Given the description of an element on the screen output the (x, y) to click on. 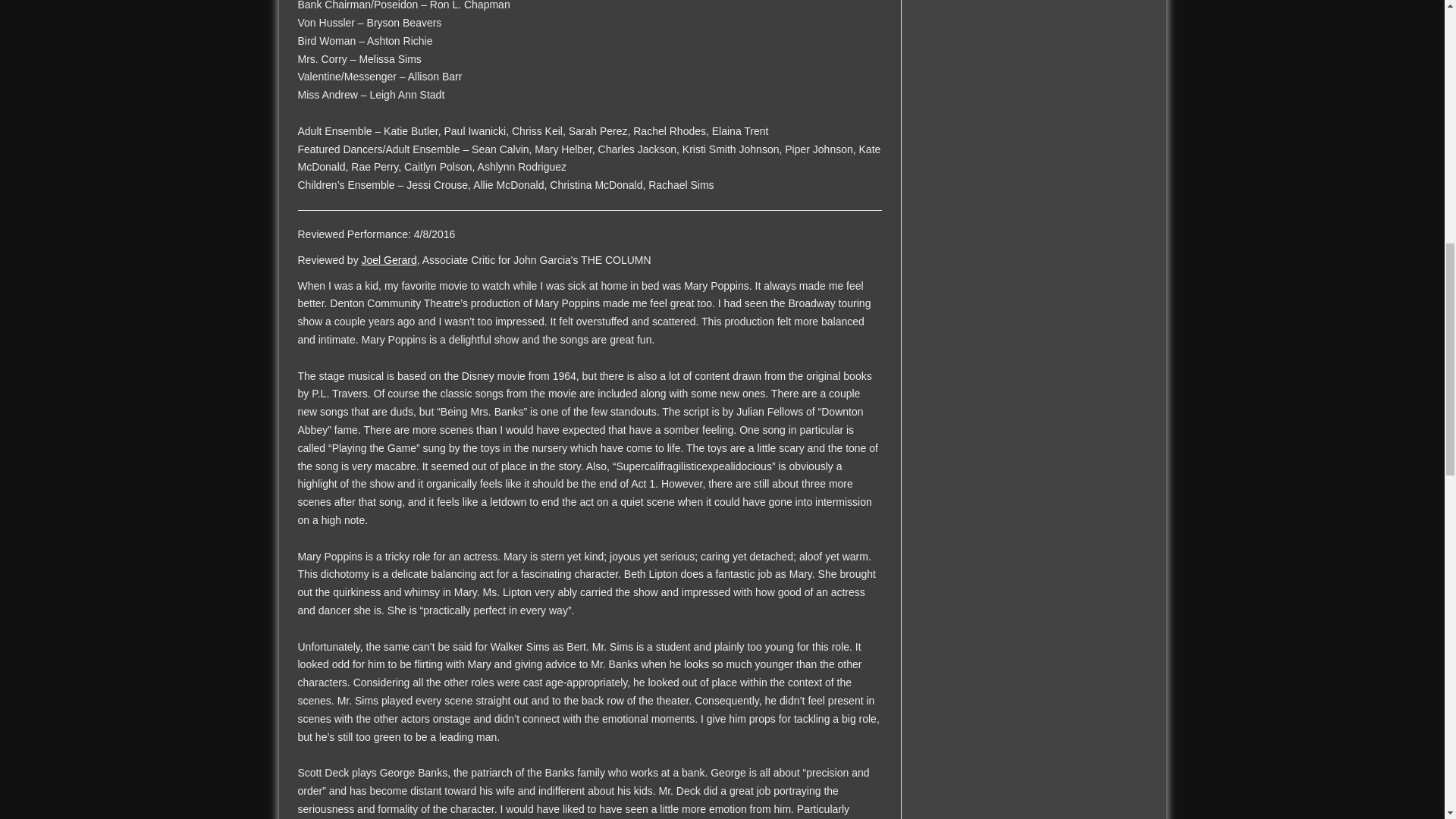
Joel Gerard (388, 259)
